Given the description of an element on the screen output the (x, y) to click on. 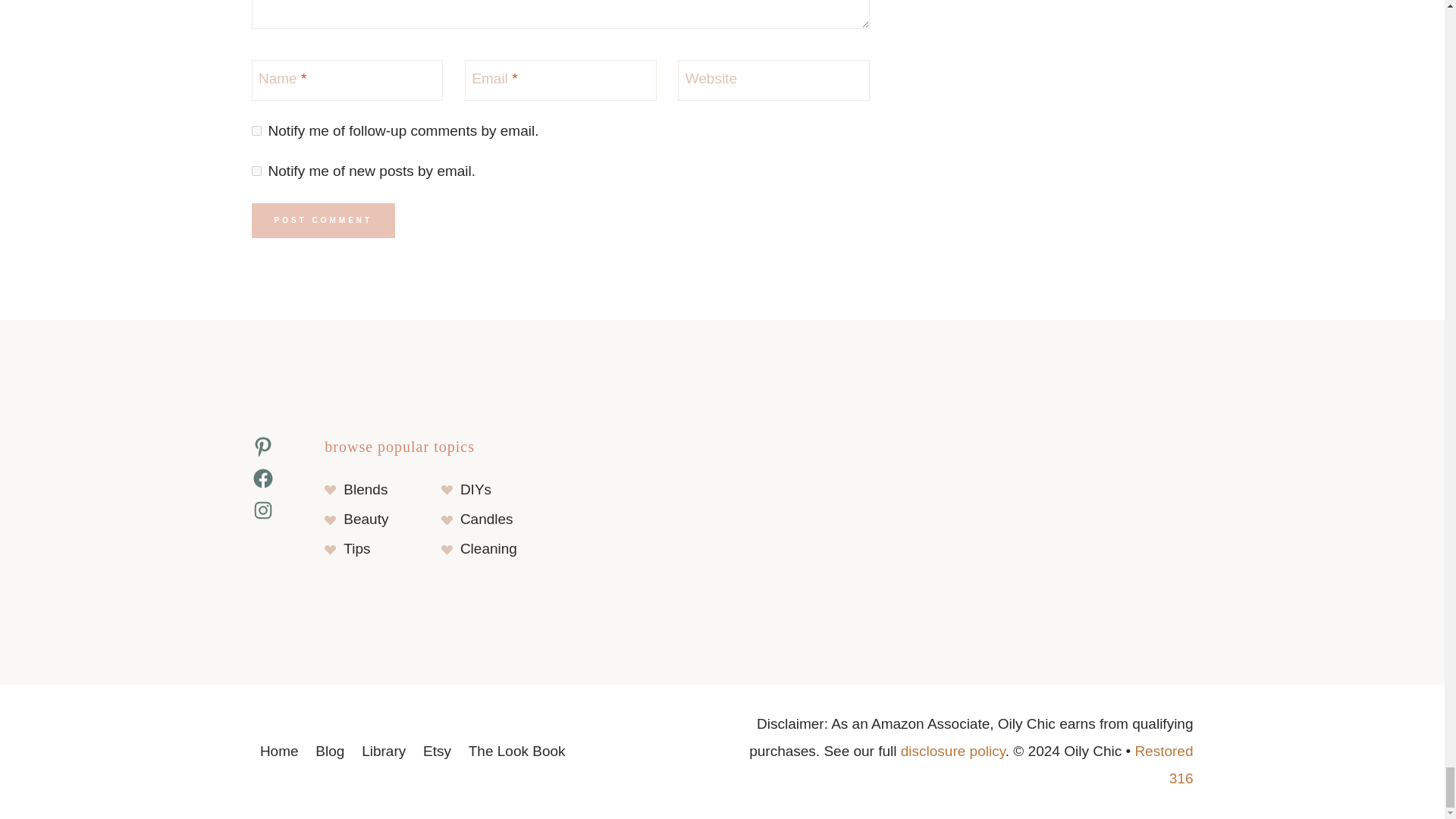
subscribe (256, 171)
subscribe (256, 130)
Post Comment (323, 220)
